Given the description of an element on the screen output the (x, y) to click on. 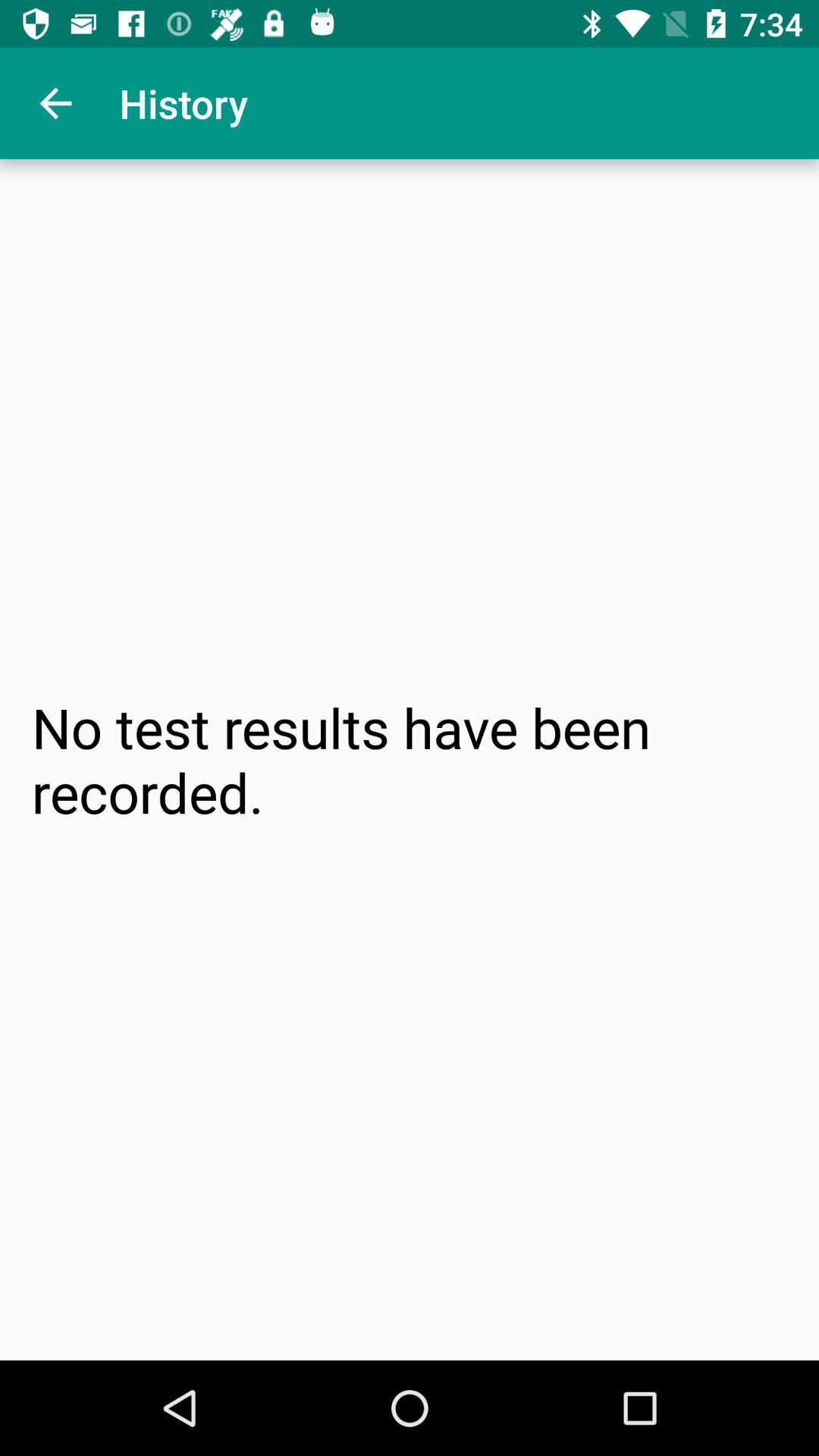
open the icon to the left of the history app (55, 103)
